Given the description of an element on the screen output the (x, y) to click on. 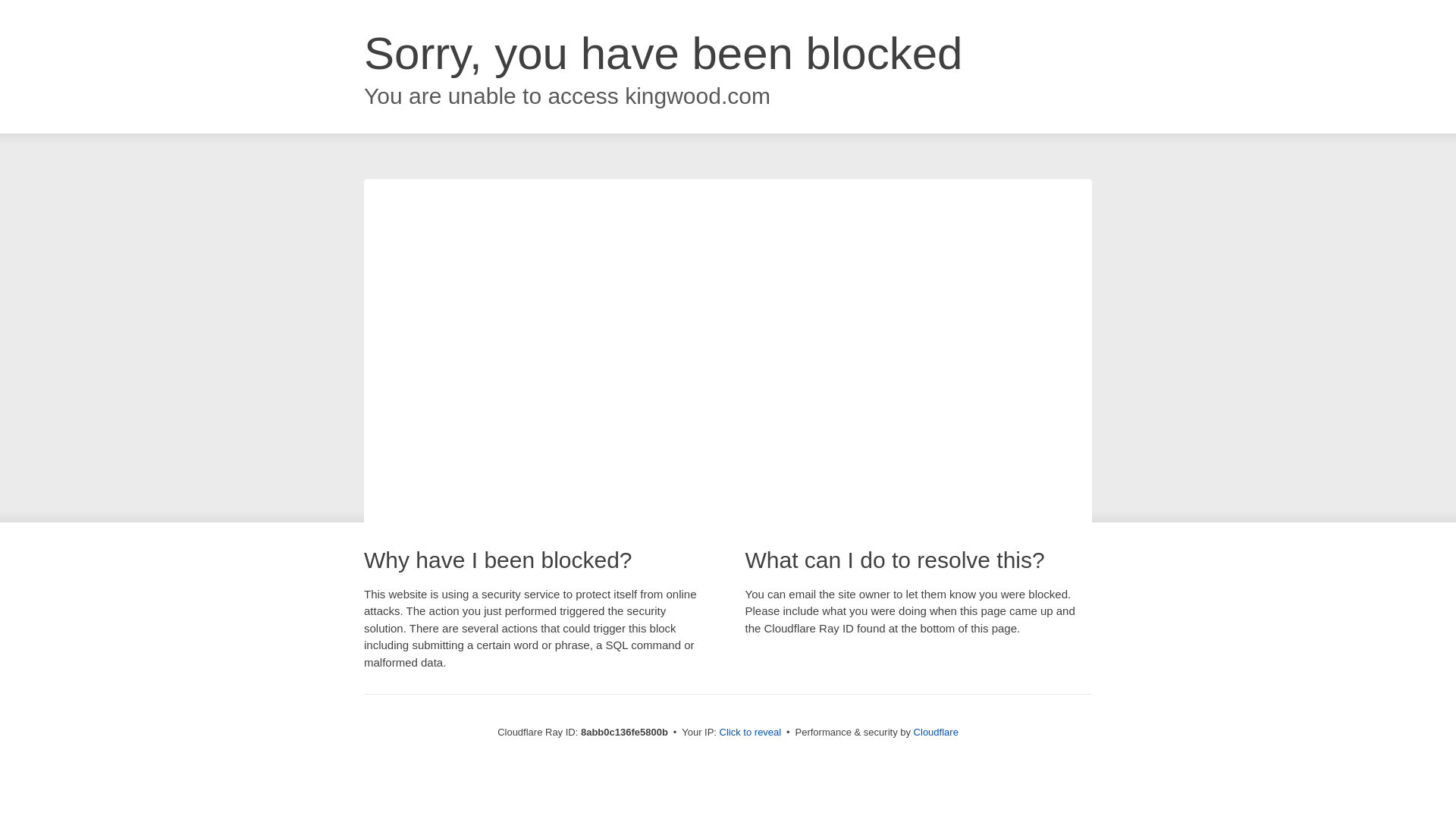
Click to reveal (750, 732)
Cloudflare (936, 731)
